Given the description of an element on the screen output the (x, y) to click on. 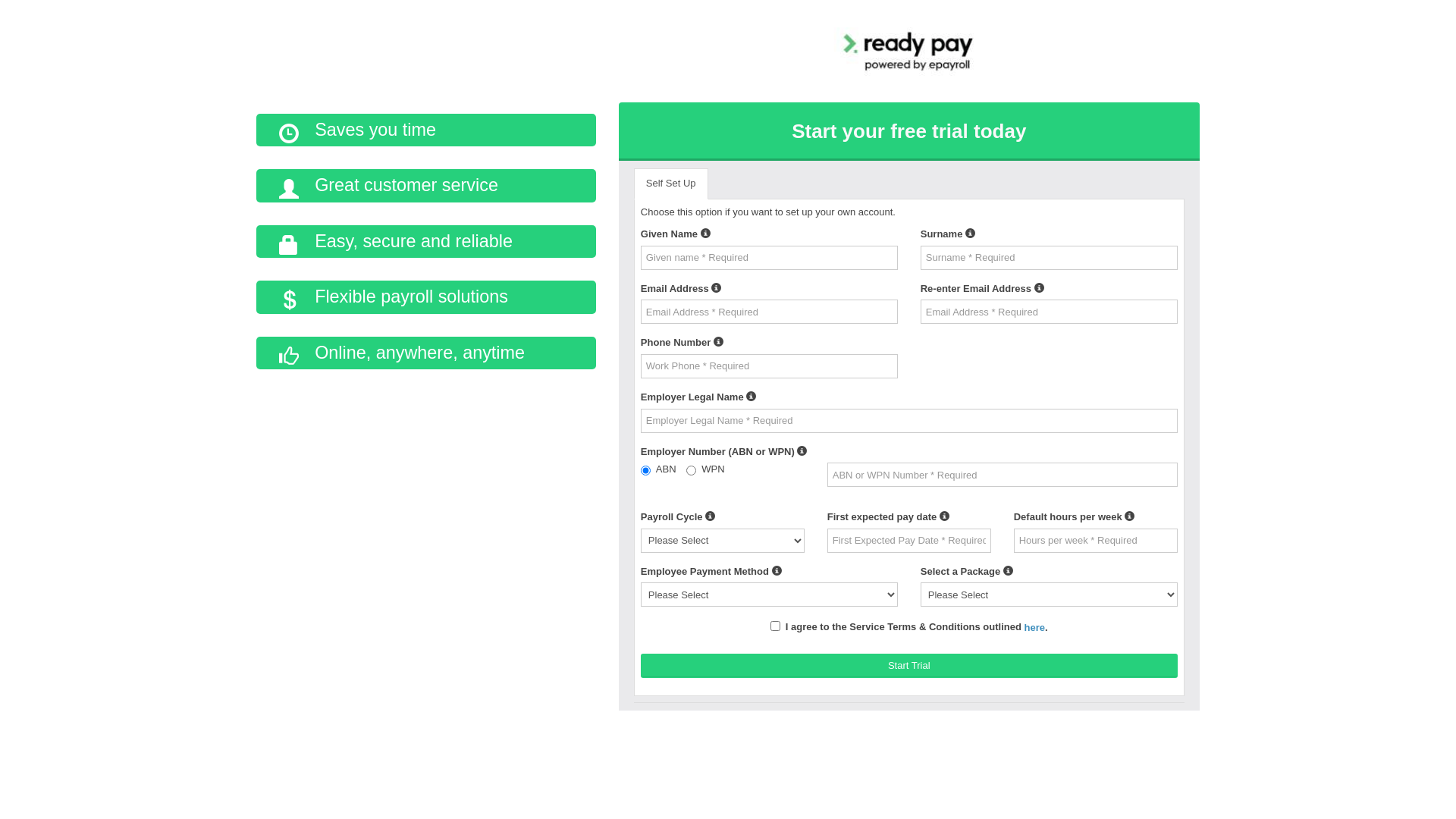
Self Set Up Element type: text (670, 183)
here Element type: text (1034, 627)
Start Trial Element type: text (908, 665)
